Given the description of an element on the screen output the (x, y) to click on. 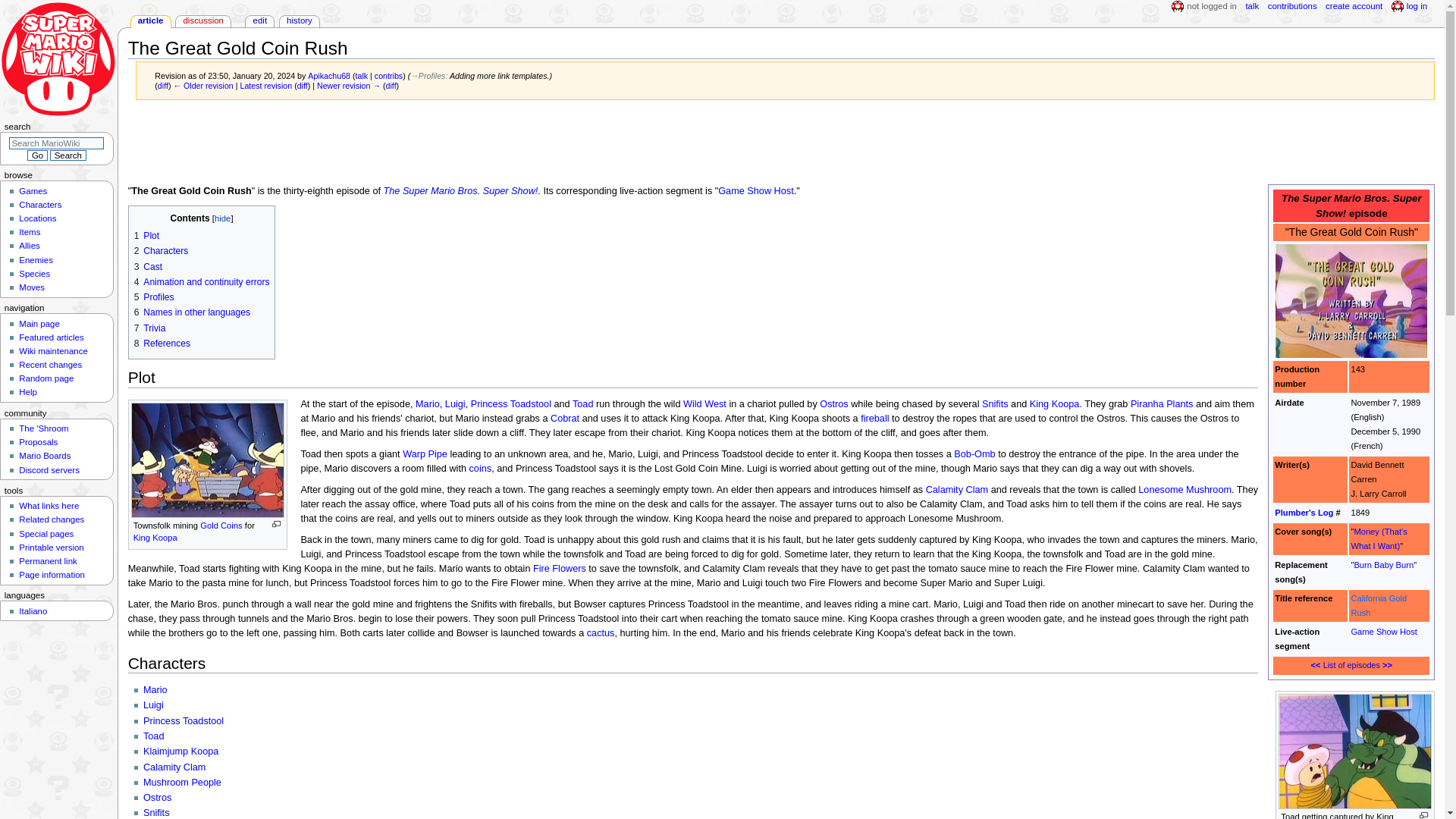
Game Show Host (1383, 631)
Go (36, 154)
1 Plot (146, 235)
4 Animation and continuity errors (201, 281)
Game Show Host (755, 190)
6 Names in other languages (191, 312)
wikipedia:California Gold Rush (1378, 605)
talk (361, 75)
5 Profiles (153, 296)
The Super Mario Bros. Super Show! (461, 190)
